Given the description of an element on the screen output the (x, y) to click on. 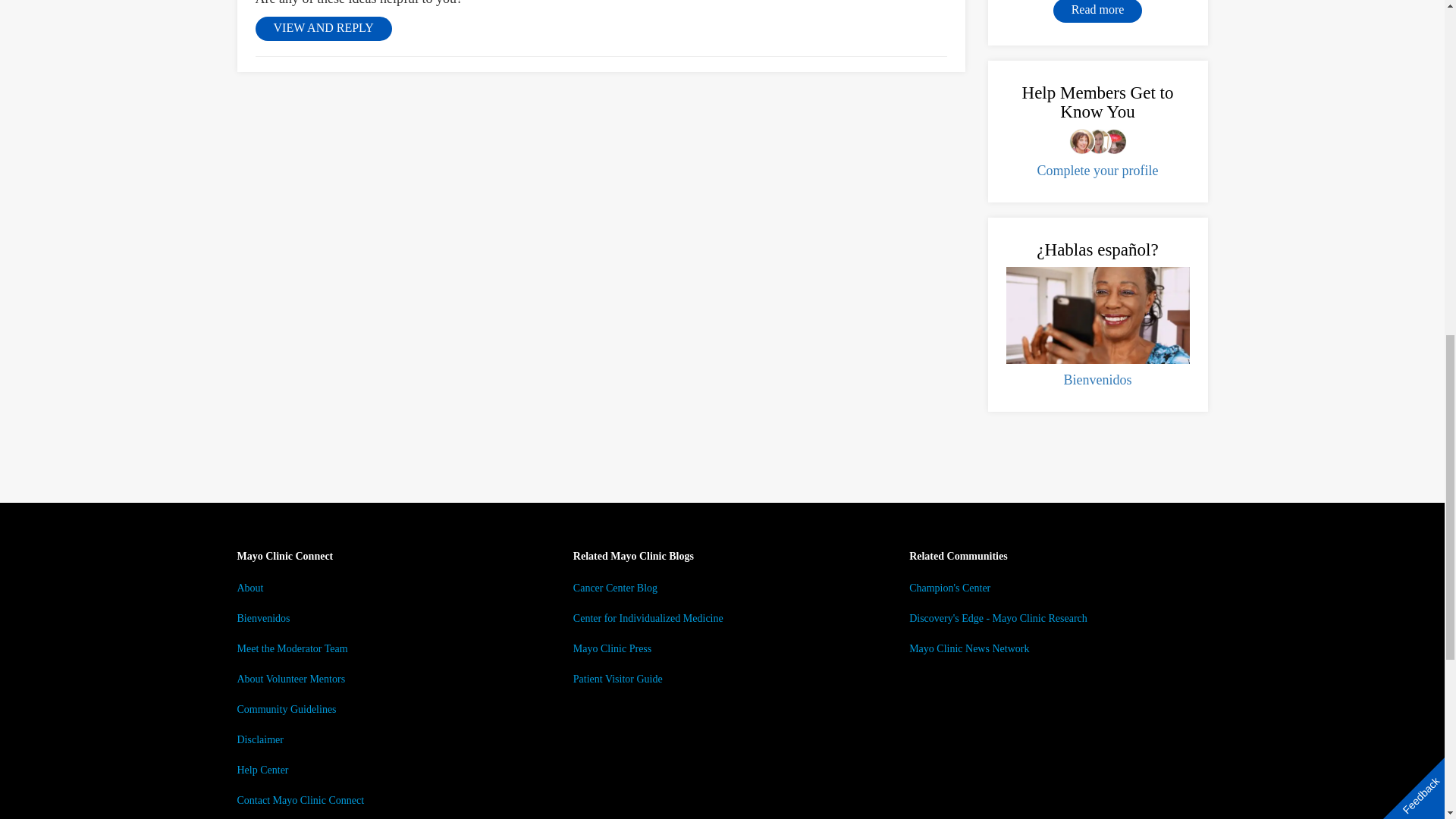
Patient Visitor Guide (617, 678)
Help Center (261, 769)
Meet the Moderator Team (291, 648)
Community Guidelines (285, 708)
Center for Individualized Medicine (648, 618)
Read more (1097, 11)
Cancer Center Blog (615, 587)
Disclaimer (258, 739)
Complete your profile (1097, 170)
Champion's Center (949, 587)
Discovery's Edge - Mayo Clinic Research (997, 618)
About Volunteer Mentors (290, 678)
Contact Mayo Clinic Connect (299, 799)
VIEW AND REPLY (322, 28)
Bienvenidos (1096, 379)
